Given the description of an element on the screen output the (x, y) to click on. 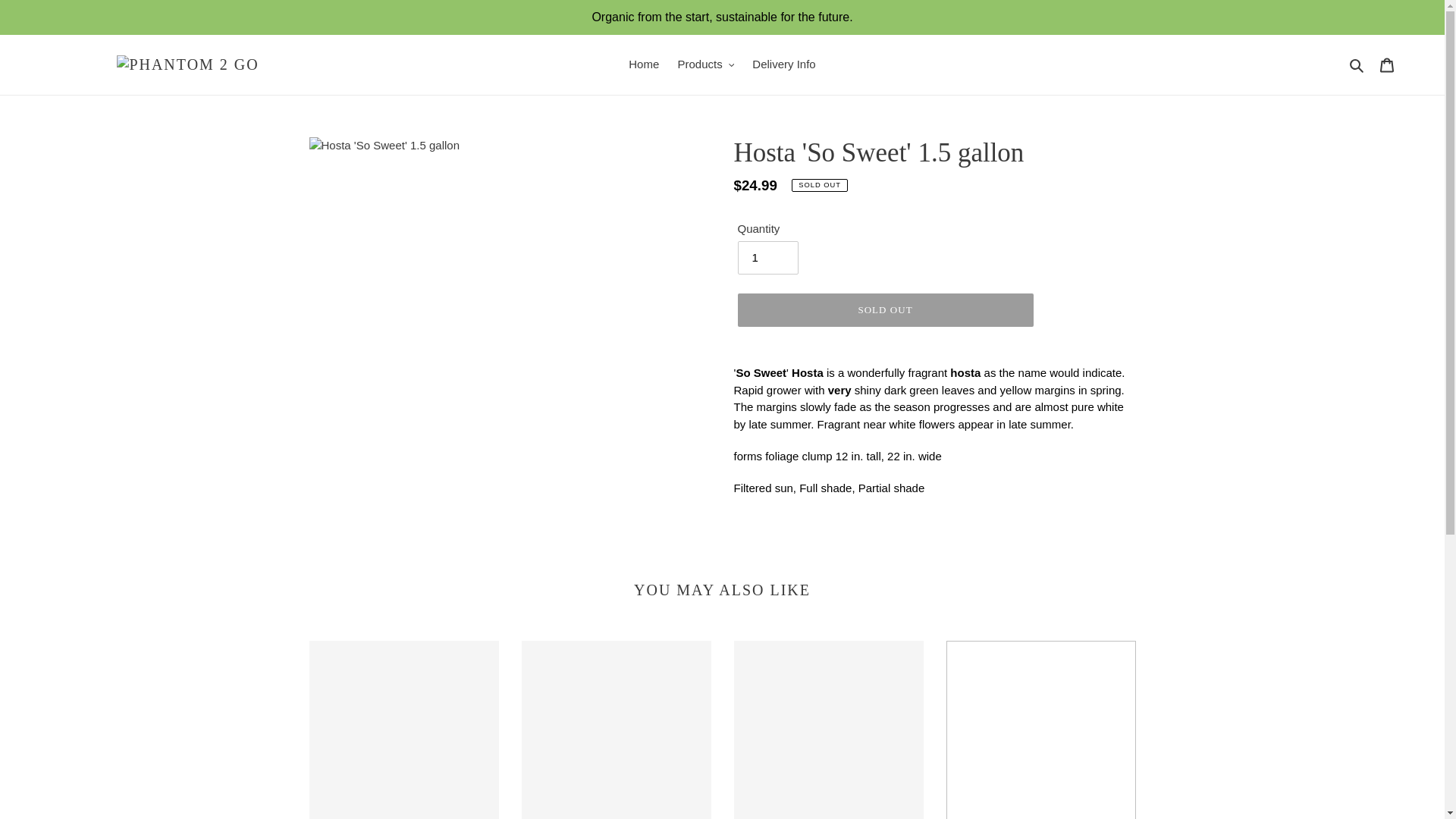
Home (643, 65)
Good-Bye Bugs Bug Repellent (616, 729)
Search (1357, 64)
1 (766, 257)
SOLD OUT (884, 309)
Old Whaling Company Body Butter (403, 729)
Products (705, 65)
Delivery Info (783, 65)
Cart (1387, 64)
